Given the description of an element on the screen output the (x, y) to click on. 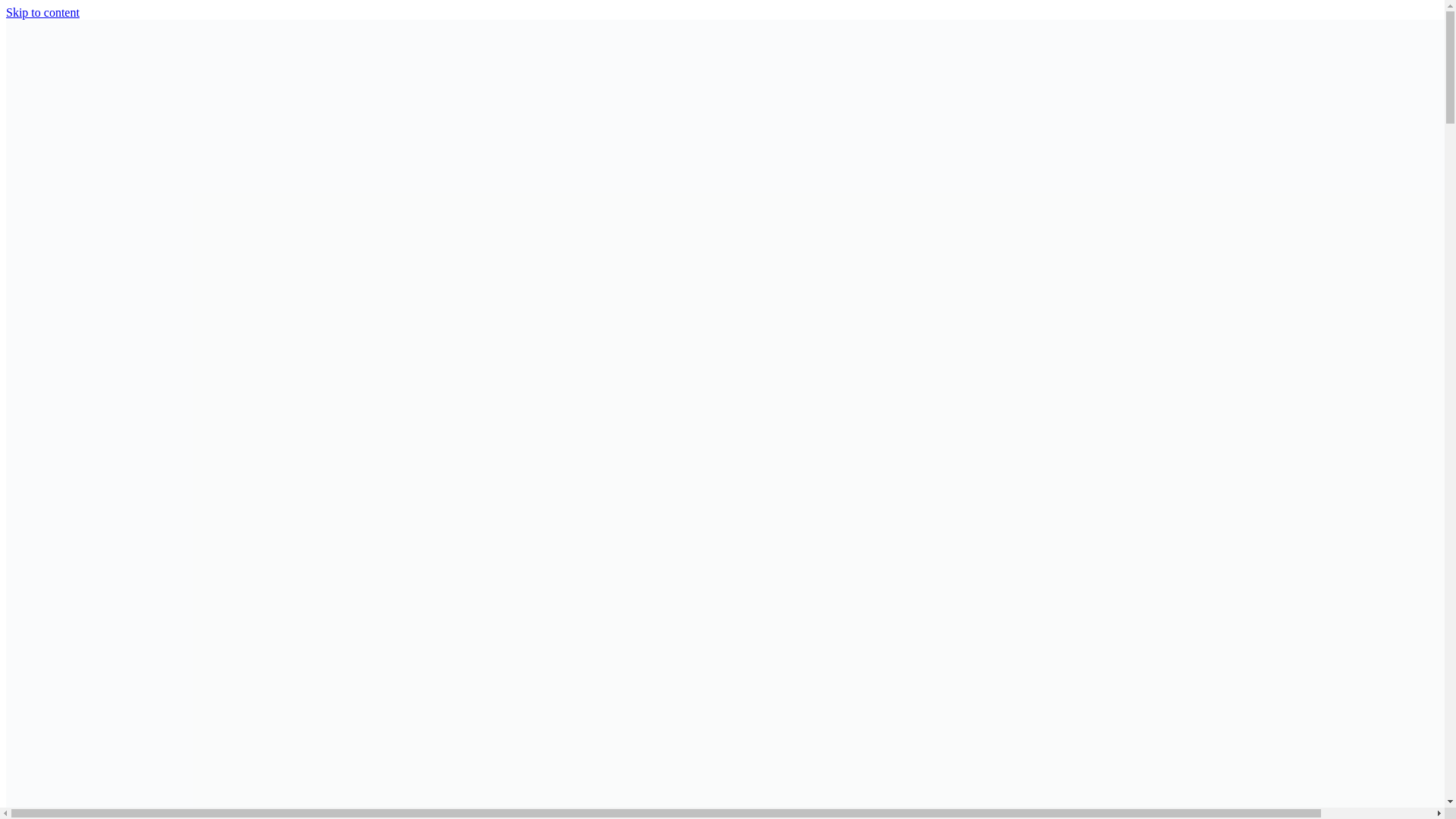
Skip to content (42, 11)
